Given the description of an element on the screen output the (x, y) to click on. 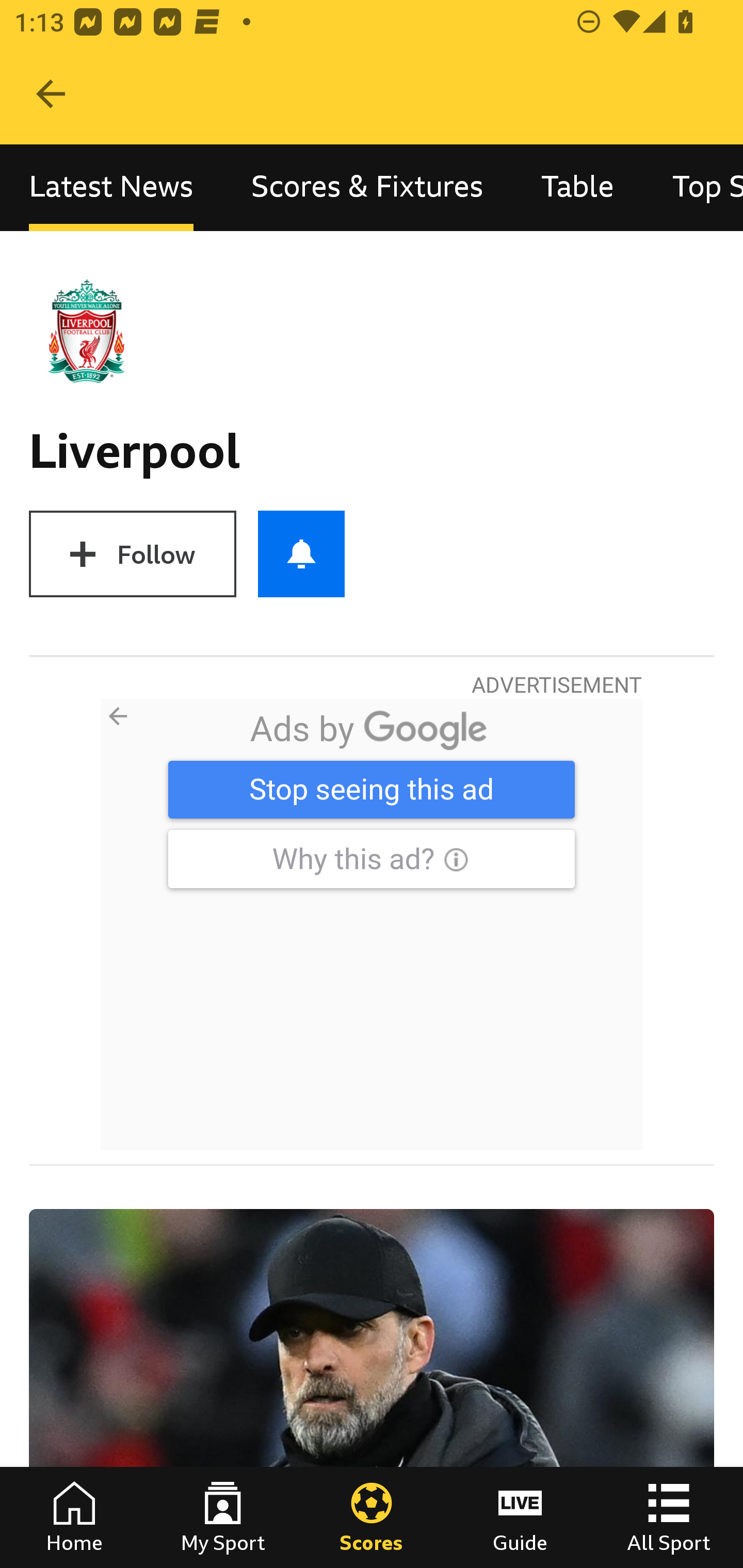
Navigate up (50, 93)
Latest News, selected Latest News (111, 187)
Scores & Fixtures (367, 187)
Table (577, 187)
Top Scorers (693, 187)
Follow Liverpool Follow (132, 554)
Push notifications for Liverpool (300, 554)
Home (74, 1517)
My Sport (222, 1517)
Guide (519, 1517)
All Sport (668, 1517)
